Given the description of an element on the screen output the (x, y) to click on. 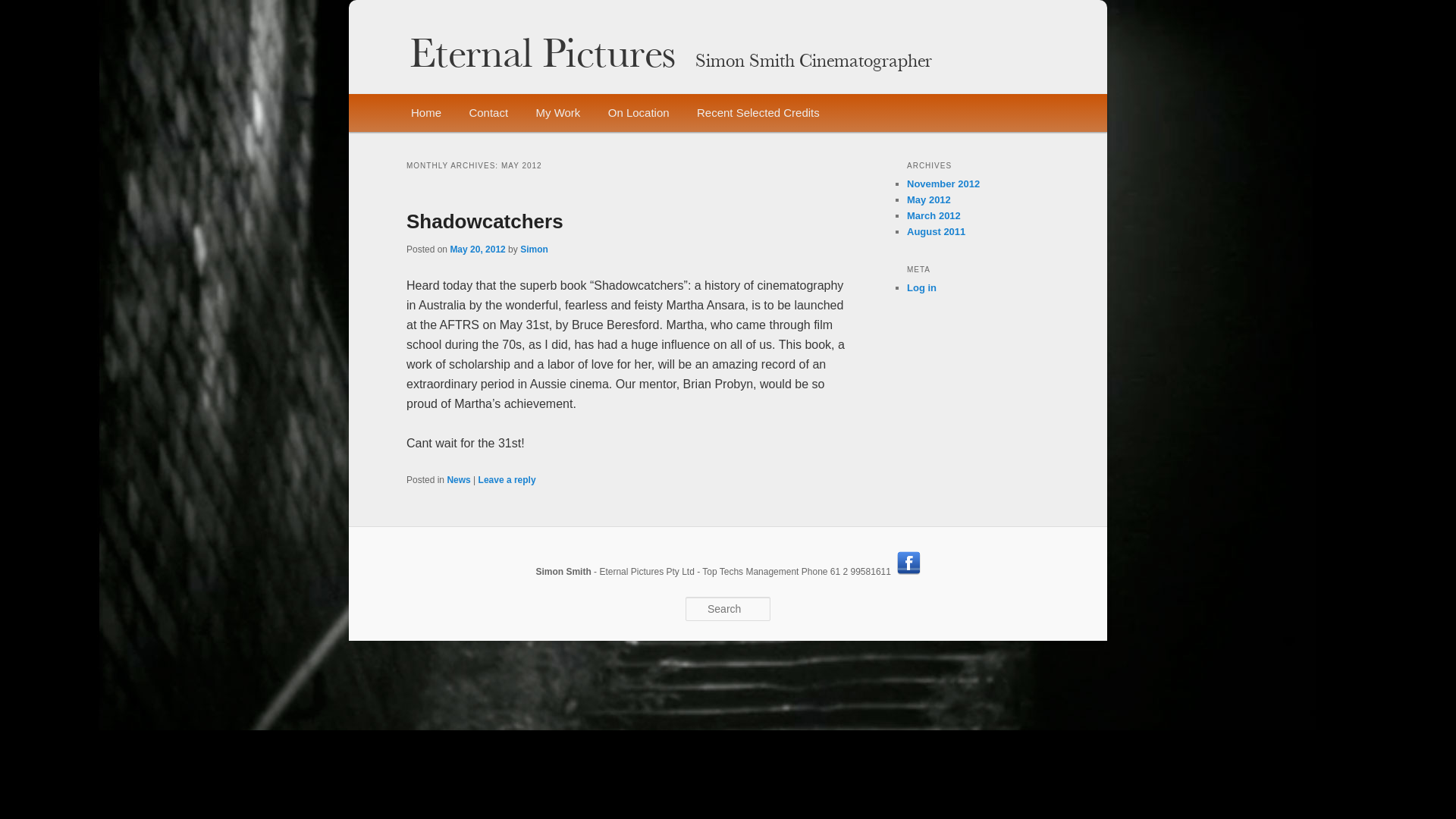
My Work Element type: text (557, 112)
Skip to secondary content Element type: text (490, 114)
Skip to primary content Element type: text (482, 114)
News Element type: text (458, 479)
March 2012 Element type: text (933, 215)
May 2012 Element type: text (928, 199)
On Location Element type: text (638, 112)
Simon Element type: text (534, 249)
Shadowcatchers Element type: text (484, 221)
November 2012 Element type: text (942, 183)
Home Element type: text (426, 112)
August 2011 Element type: text (935, 231)
May 20, 2012 Element type: text (477, 249)
Contact Element type: text (488, 112)
Leave a reply Element type: text (507, 479)
Search Element type: text (24, 8)
Visit me on Facebook Element type: hover (908, 562)
Recent Selected Credits Element type: text (758, 112)
Visit me on Facebook Element type: hover (908, 571)
Log in Element type: text (921, 287)
